Given the description of an element on the screen output the (x, y) to click on. 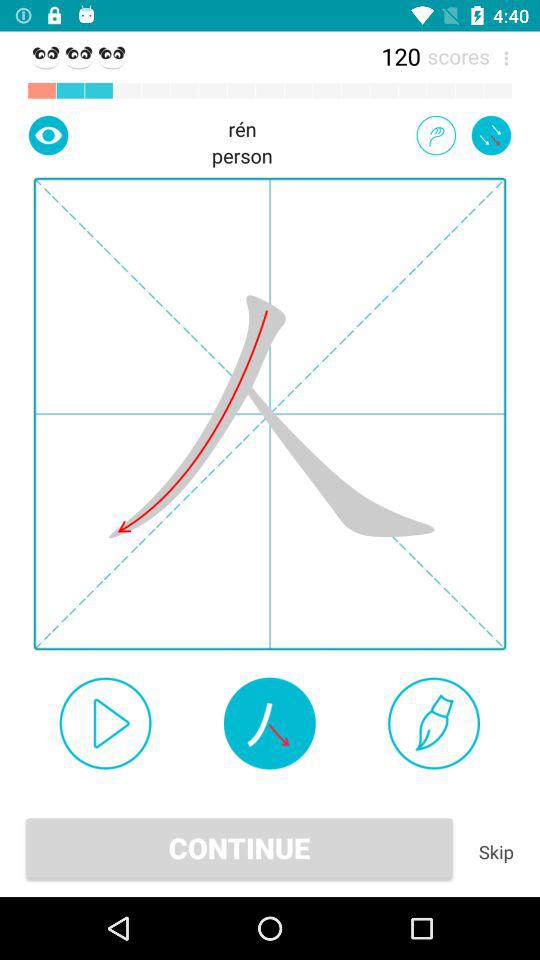
show next mark (48, 135)
